Given the description of an element on the screen output the (x, y) to click on. 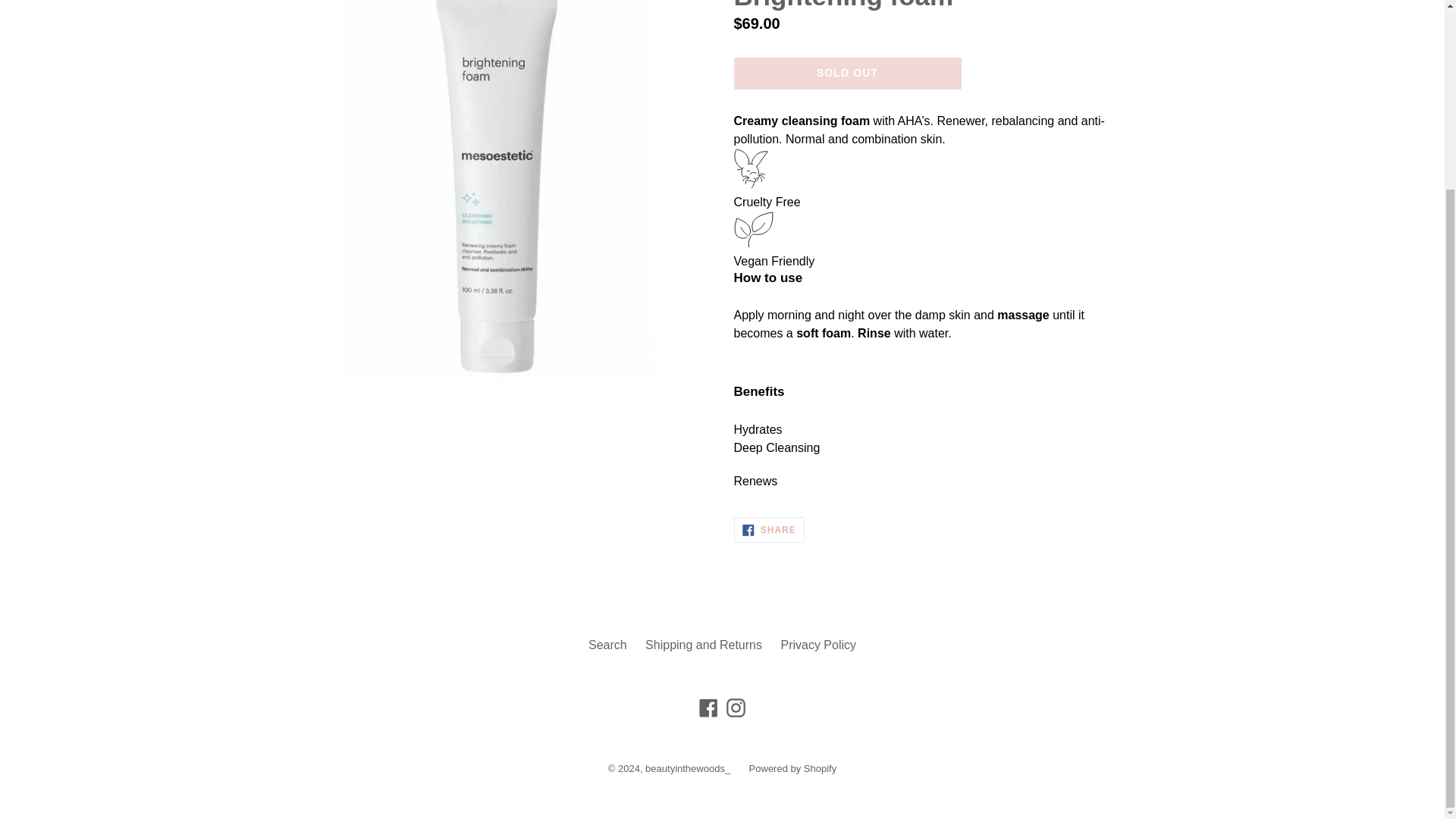
SOLD OUT (846, 73)
Share on Facebook (769, 529)
Privacy Policy (769, 529)
Instagram (818, 644)
Powered by Shopify (735, 707)
Shipping and Returns (793, 767)
Search (703, 644)
Facebook (607, 644)
